Given the description of an element on the screen output the (x, y) to click on. 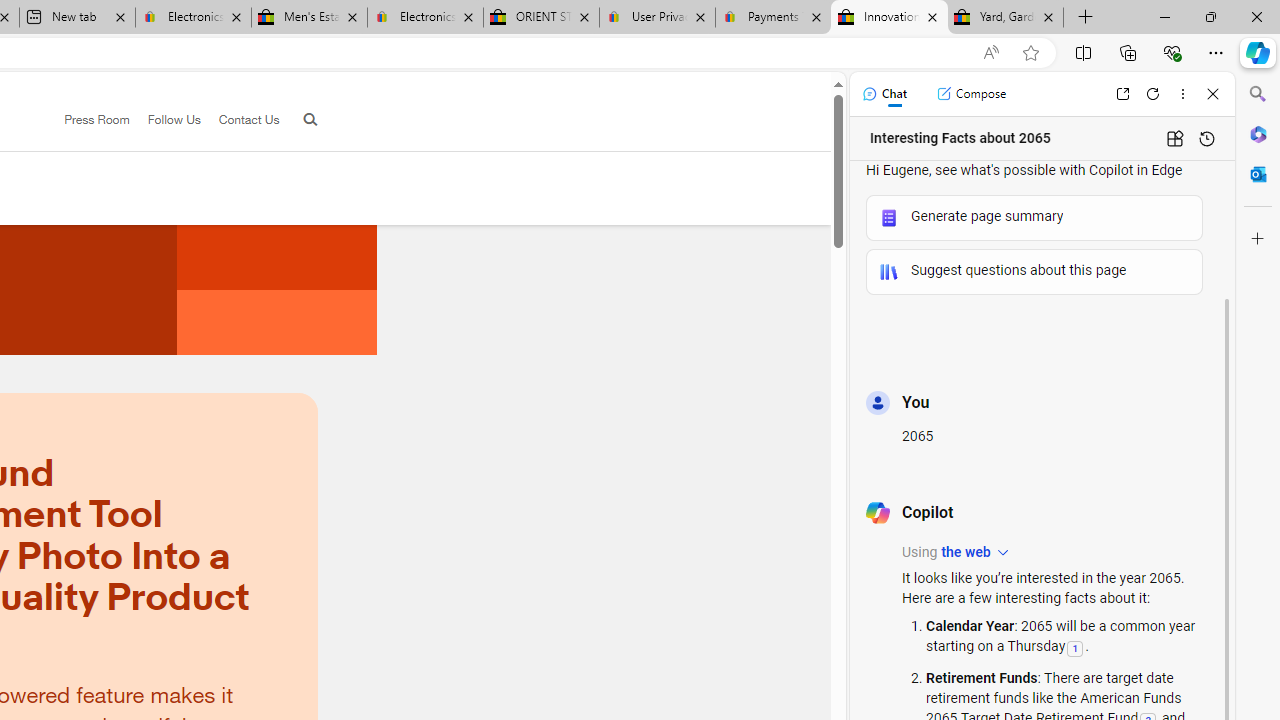
Innovation - eBay Inc. (889, 17)
Press Room (97, 119)
Contact Us (248, 119)
